Given the description of an element on the screen output the (x, y) to click on. 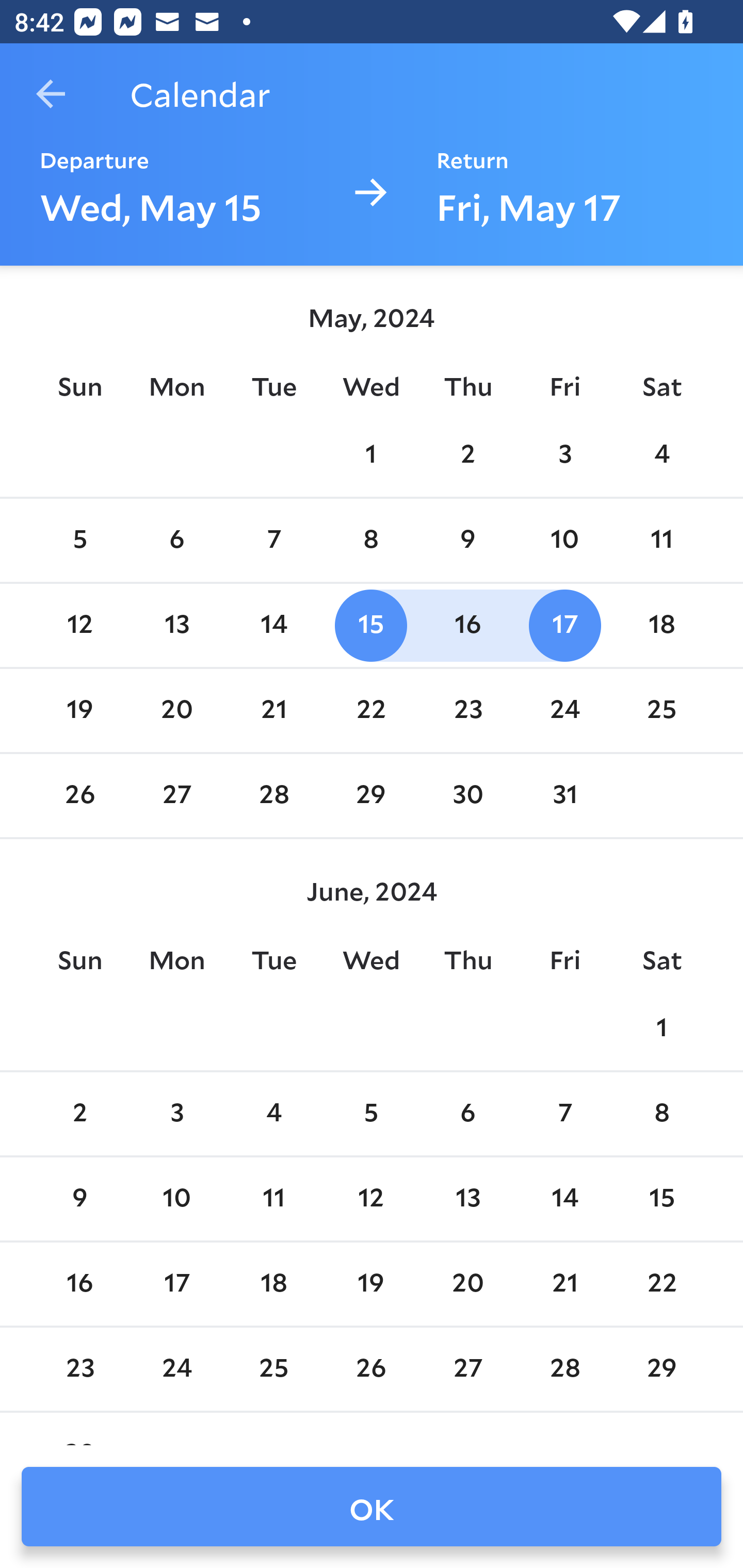
Navigate up (50, 93)
1 (371, 454)
2 (467, 454)
3 (565, 454)
4 (661, 454)
5 (79, 540)
6 (177, 540)
7 (273, 540)
8 (371, 540)
9 (467, 540)
10 (565, 540)
11 (661, 540)
12 (79, 625)
13 (177, 625)
14 (273, 625)
15 (371, 625)
16 (467, 625)
17 (565, 625)
18 (661, 625)
19 (79, 710)
20 (177, 710)
21 (273, 710)
22 (371, 710)
23 (467, 710)
24 (565, 710)
25 (661, 710)
26 (79, 796)
27 (177, 796)
28 (273, 796)
29 (371, 796)
30 (467, 796)
31 (565, 796)
1 (661, 1028)
2 (79, 1114)
3 (177, 1114)
4 (273, 1114)
5 (371, 1114)
6 (467, 1114)
7 (565, 1114)
8 (661, 1114)
9 (79, 1199)
10 (177, 1199)
11 (273, 1199)
12 (371, 1199)
13 (467, 1199)
14 (565, 1199)
15 (661, 1199)
16 (79, 1284)
17 (177, 1284)
18 (273, 1284)
19 (371, 1284)
20 (467, 1284)
21 (565, 1284)
22 (661, 1284)
23 (79, 1368)
24 (177, 1368)
25 (273, 1368)
26 (371, 1368)
27 (467, 1368)
28 (565, 1368)
29 (661, 1368)
OK (371, 1506)
